Given the description of an element on the screen output the (x, y) to click on. 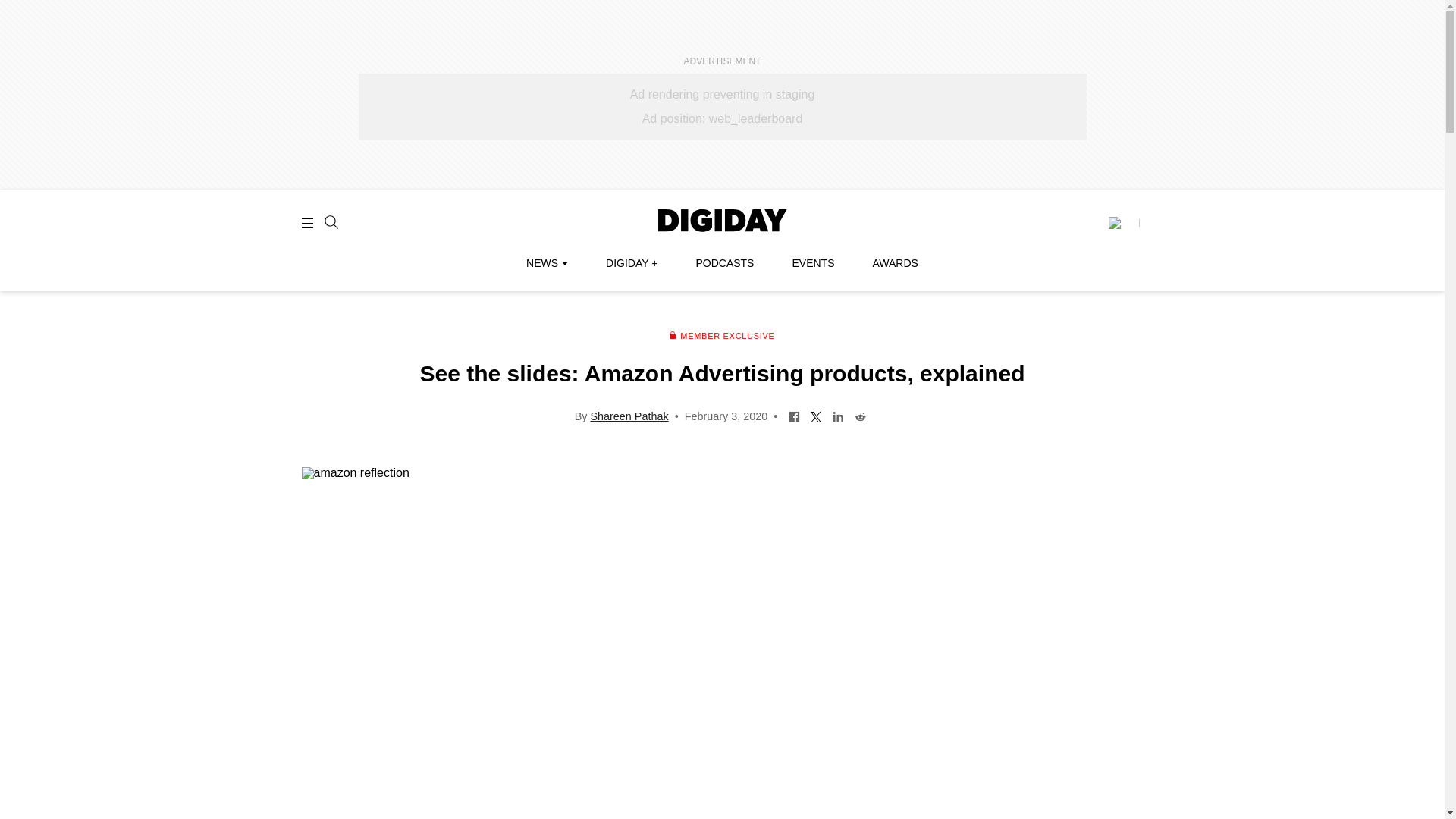
Share on Facebook (793, 415)
NEWS (546, 262)
Share on LinkedIn (837, 415)
PODCASTS (725, 262)
Share on Twitter (815, 415)
Subscribe (1123, 223)
Share on Reddit (859, 415)
EVENTS (813, 262)
AWARDS (894, 262)
